Given the description of an element on the screen output the (x, y) to click on. 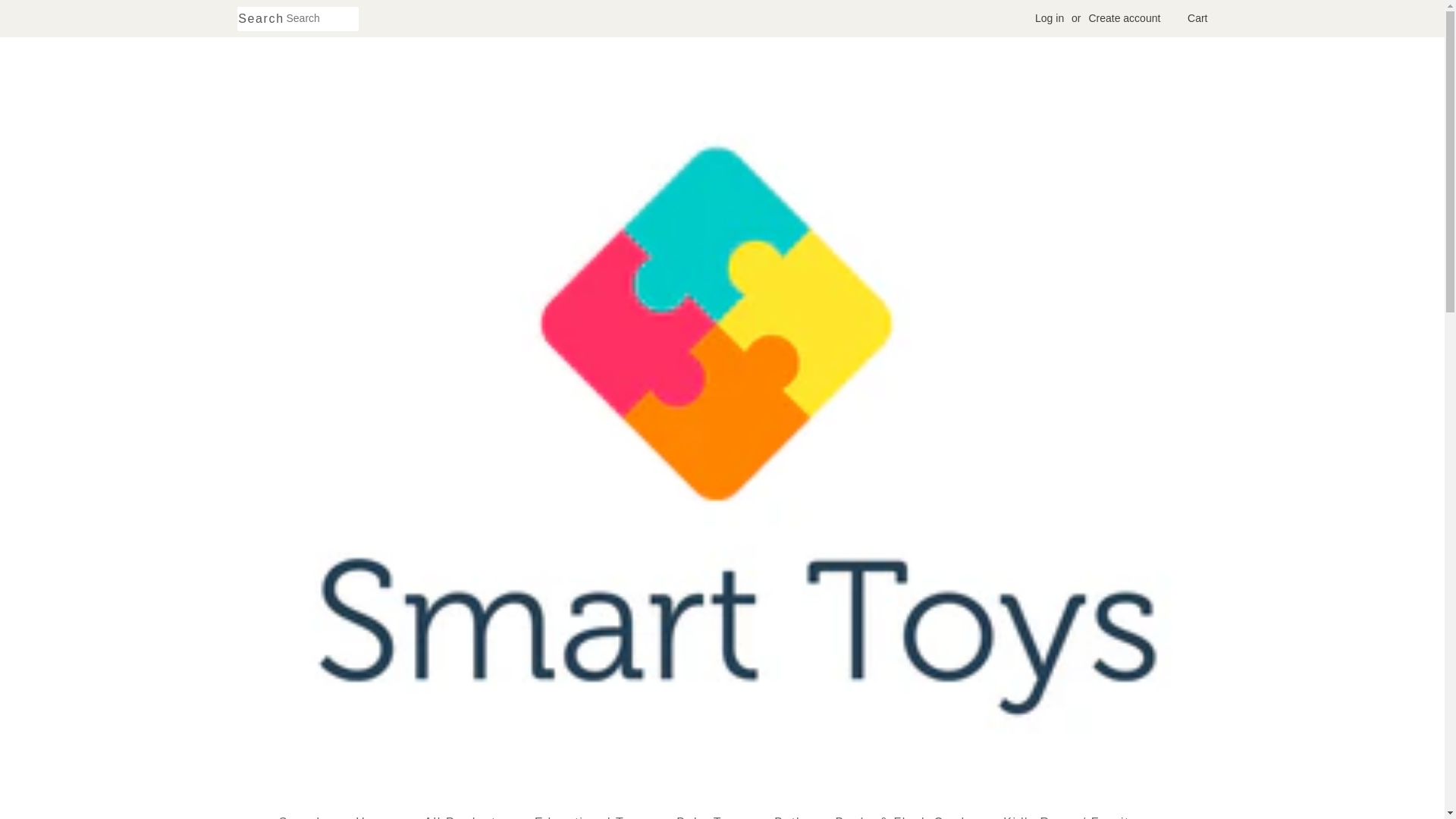
Create account (1123, 18)
Cart (1197, 18)
Log in (1049, 18)
Search (260, 18)
